Given the description of an element on the screen output the (x, y) to click on. 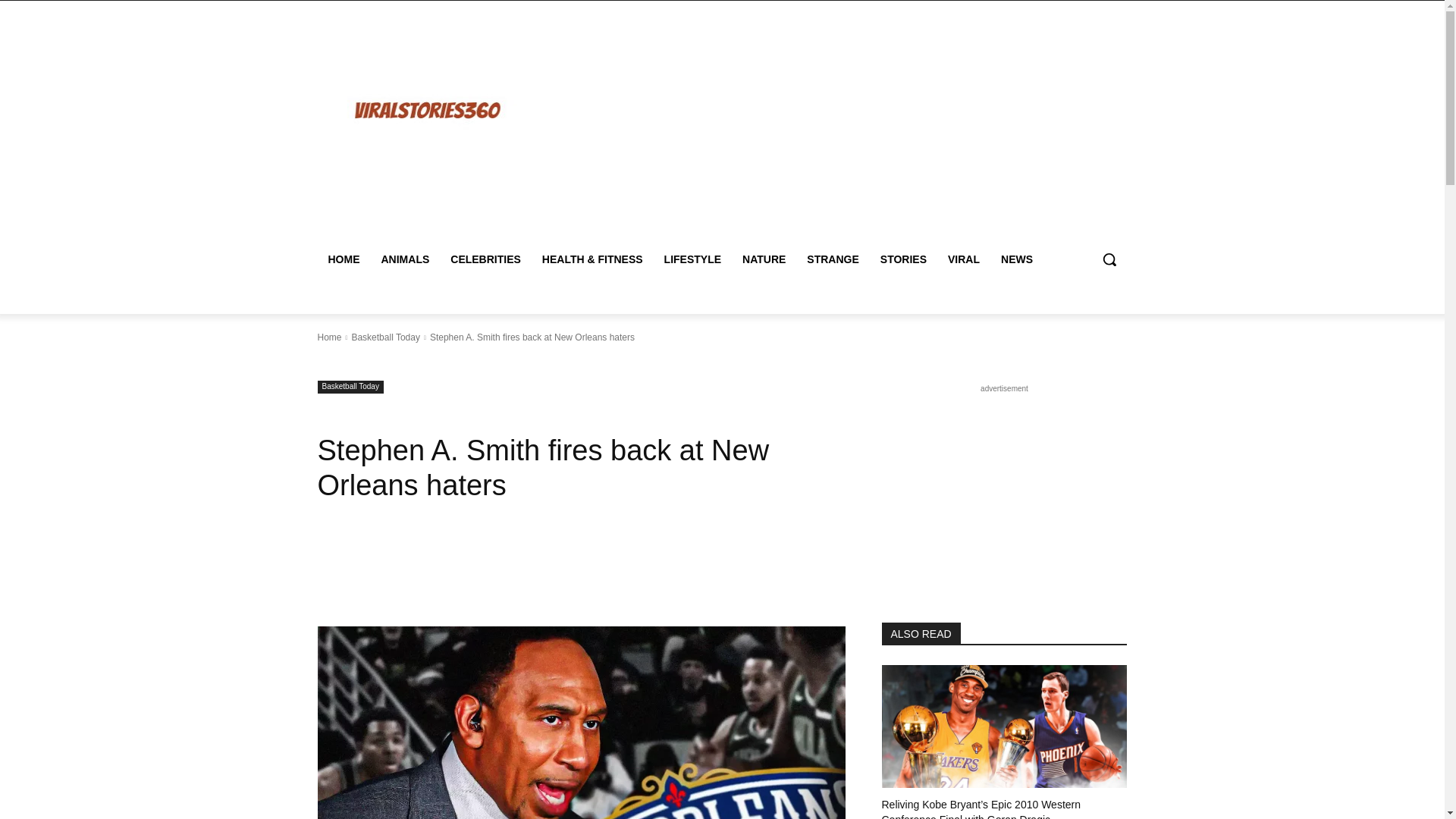
Home (328, 337)
NEWS (1016, 258)
VIRAL (963, 258)
STRANGE (832, 258)
HOME (343, 258)
LIFESTYLE (692, 258)
ANIMALS (404, 258)
Basketball Today (349, 386)
Advertisement (854, 128)
CELEBRITIES (485, 258)
